Given the description of an element on the screen output the (x, y) to click on. 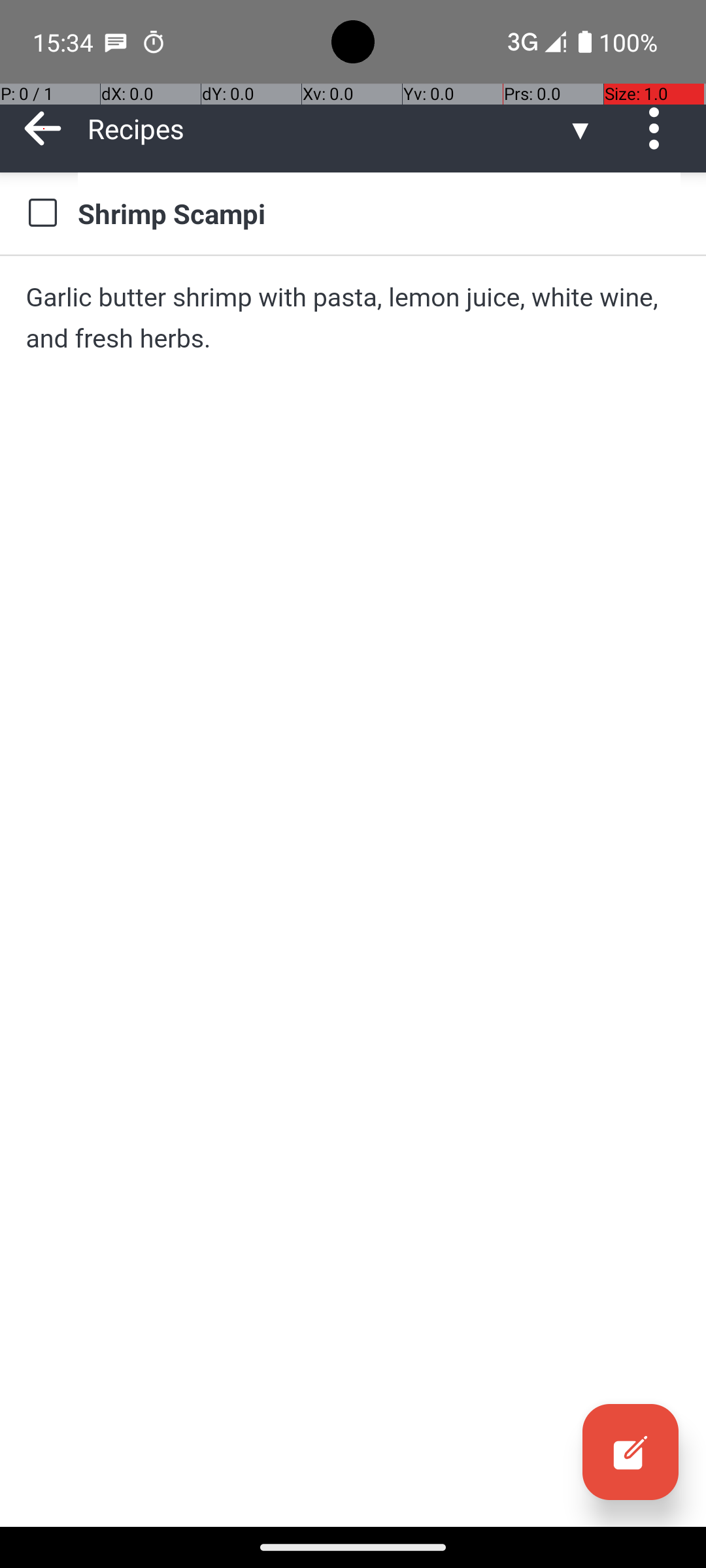
Shrimp Scampi Element type: android.widget.EditText (378, 213)
Garlic butter shrimp with pasta, lemon juice, white wine, and fresh herbs. Element type: android.widget.TextView (352, 317)
